Given the description of an element on the screen output the (x, y) to click on. 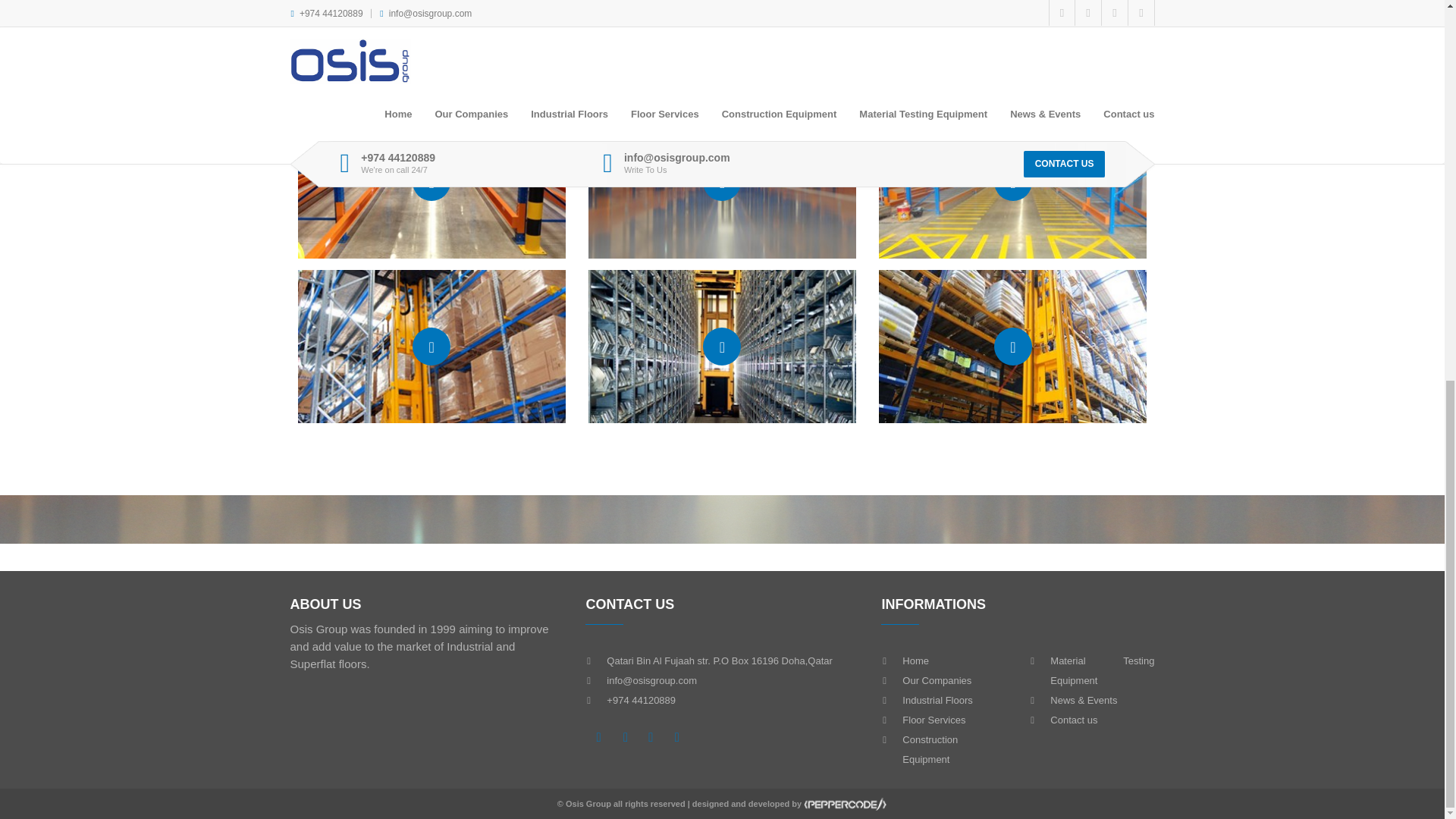
Our Companies (936, 680)
Contact us (1073, 719)
Material Testing Equipment (1101, 670)
Home (915, 660)
Construction Equipment (930, 748)
Industrial Floors (937, 699)
Floor Services (933, 719)
